Given the description of an element on the screen output the (x, y) to click on. 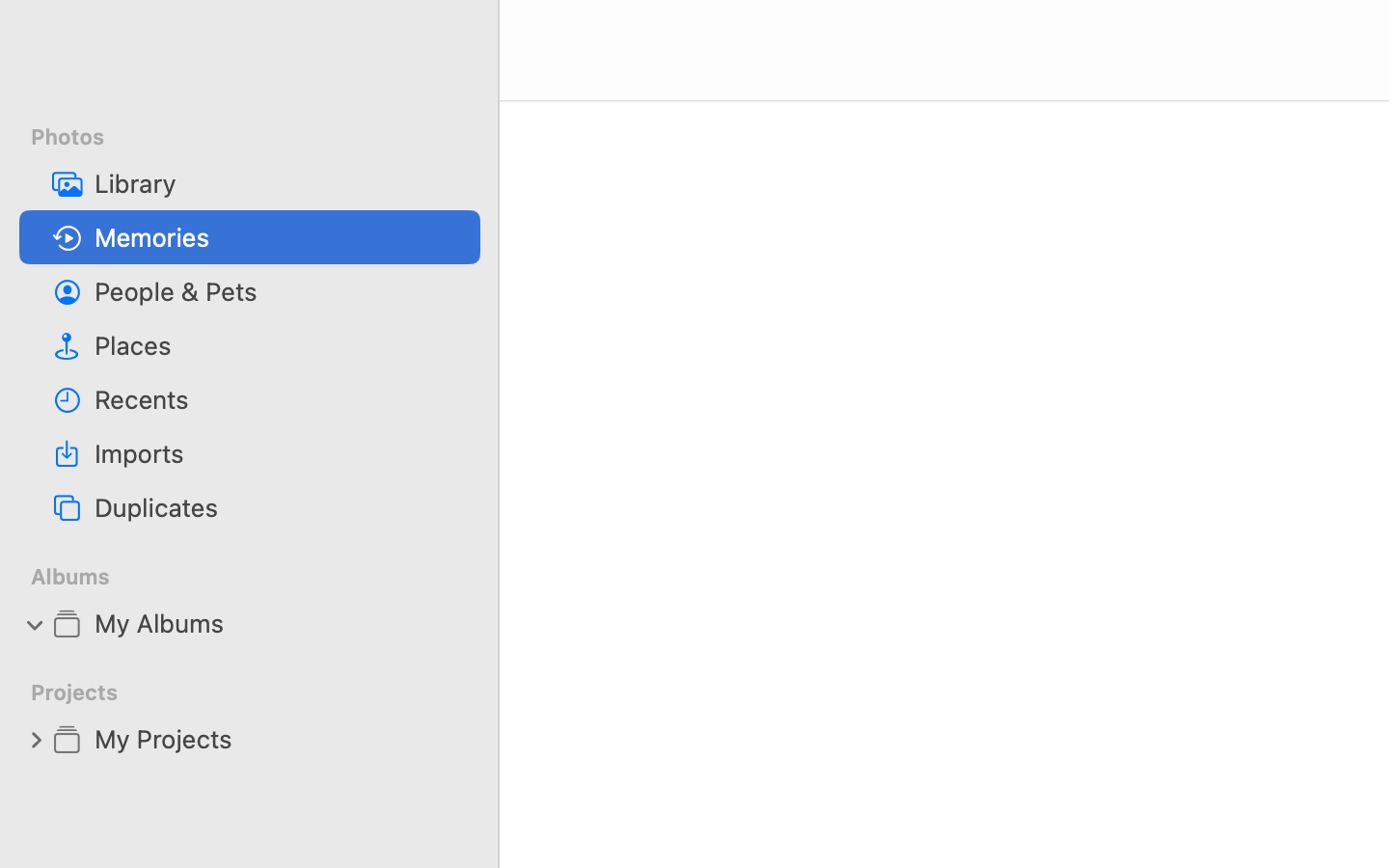
Albums Element type: AXStaticText (261, 576)
Recents Element type: AXStaticText (279, 398)
Memories Element type: AXStaticText (279, 236)
People & Pets Element type: AXStaticText (279, 290)
Projects Element type: AXStaticText (261, 691)
